Given the description of an element on the screen output the (x, y) to click on. 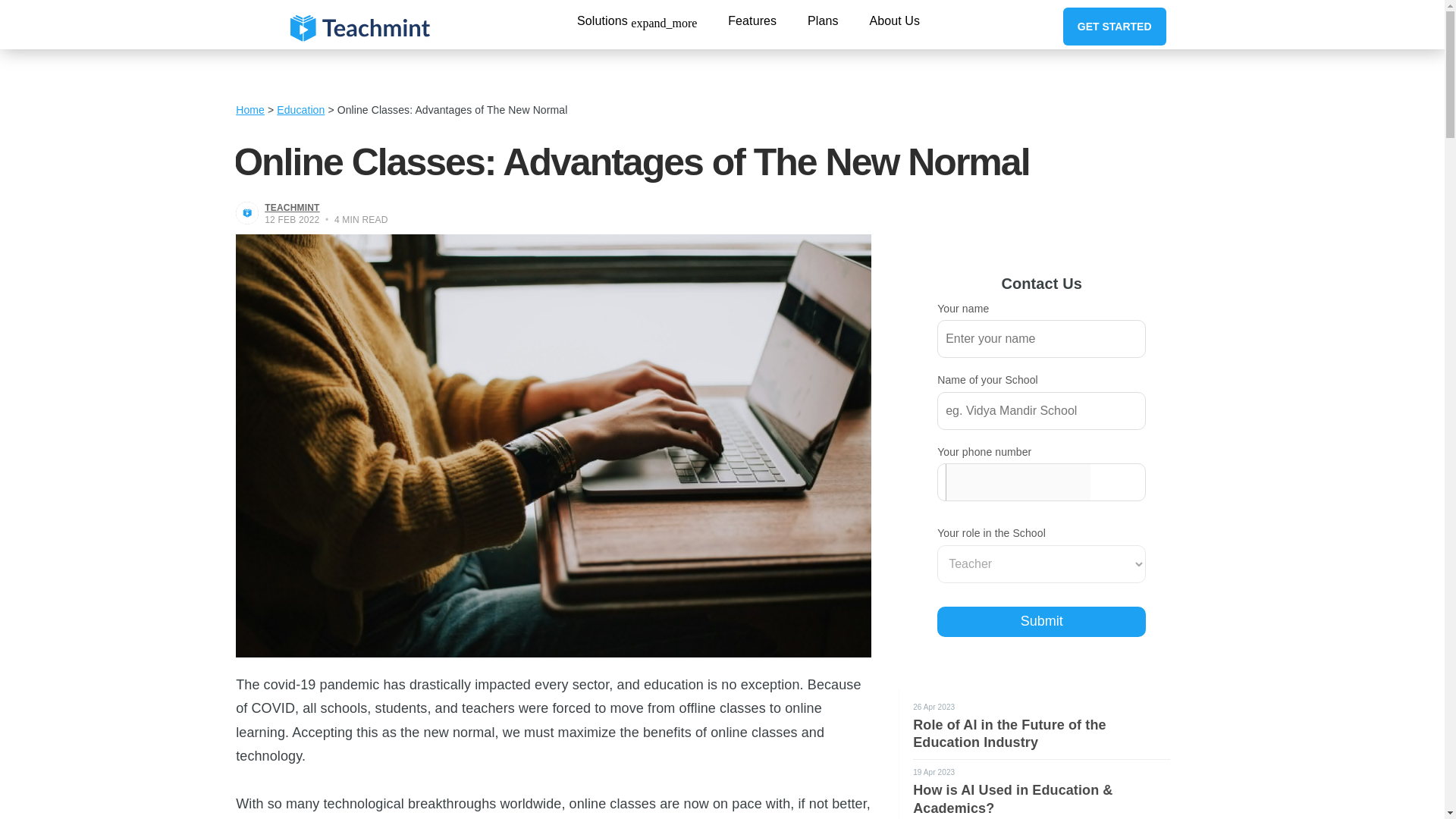
Plans (823, 20)
About Us (894, 20)
GET STARTED (1114, 26)
Features (752, 20)
